Given the description of an element on the screen output the (x, y) to click on. 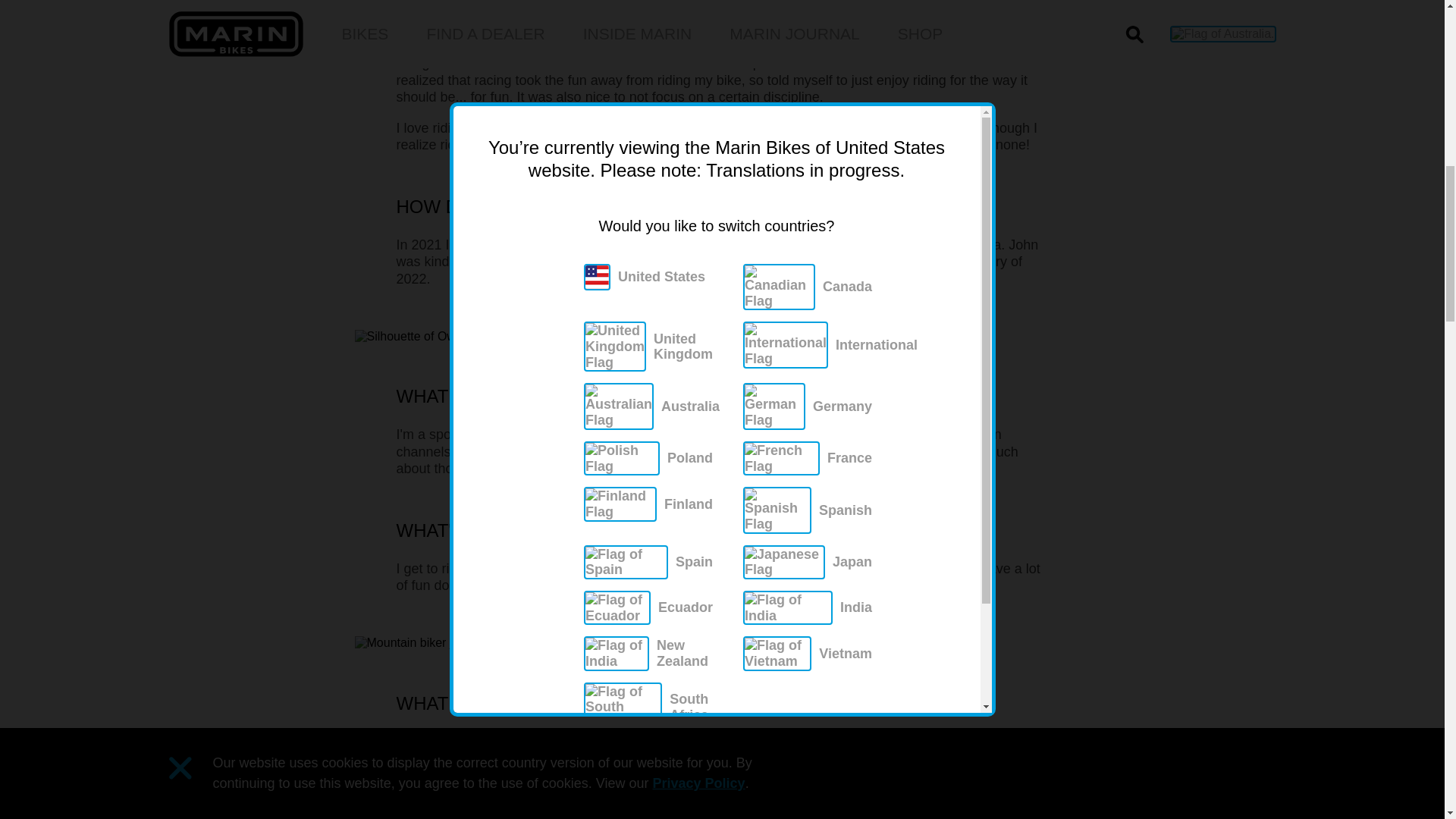
John Oldale (771, 244)
